Given the description of an element on the screen output the (x, y) to click on. 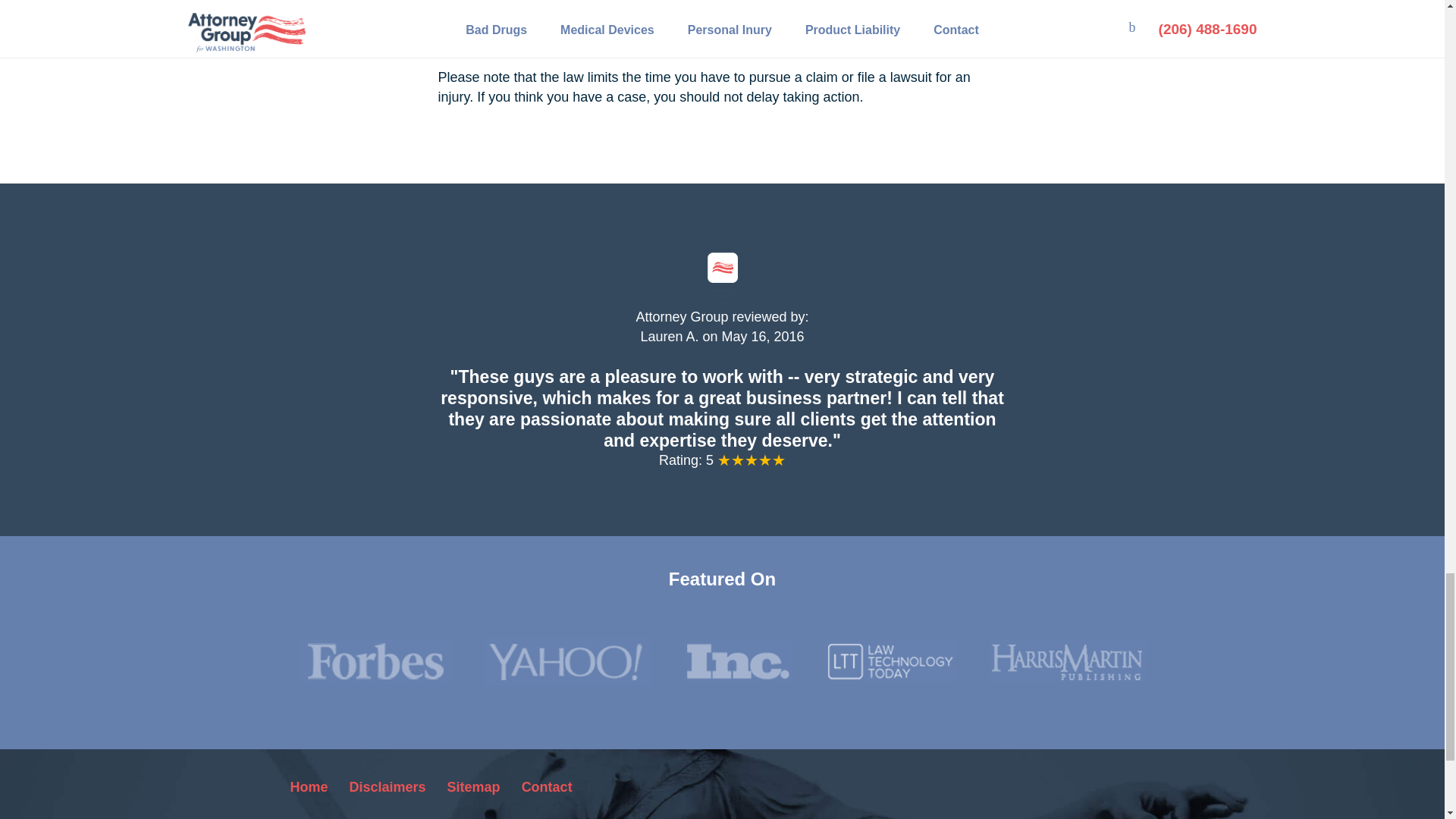
Home (308, 786)
